Given the description of an element on the screen output the (x, y) to click on. 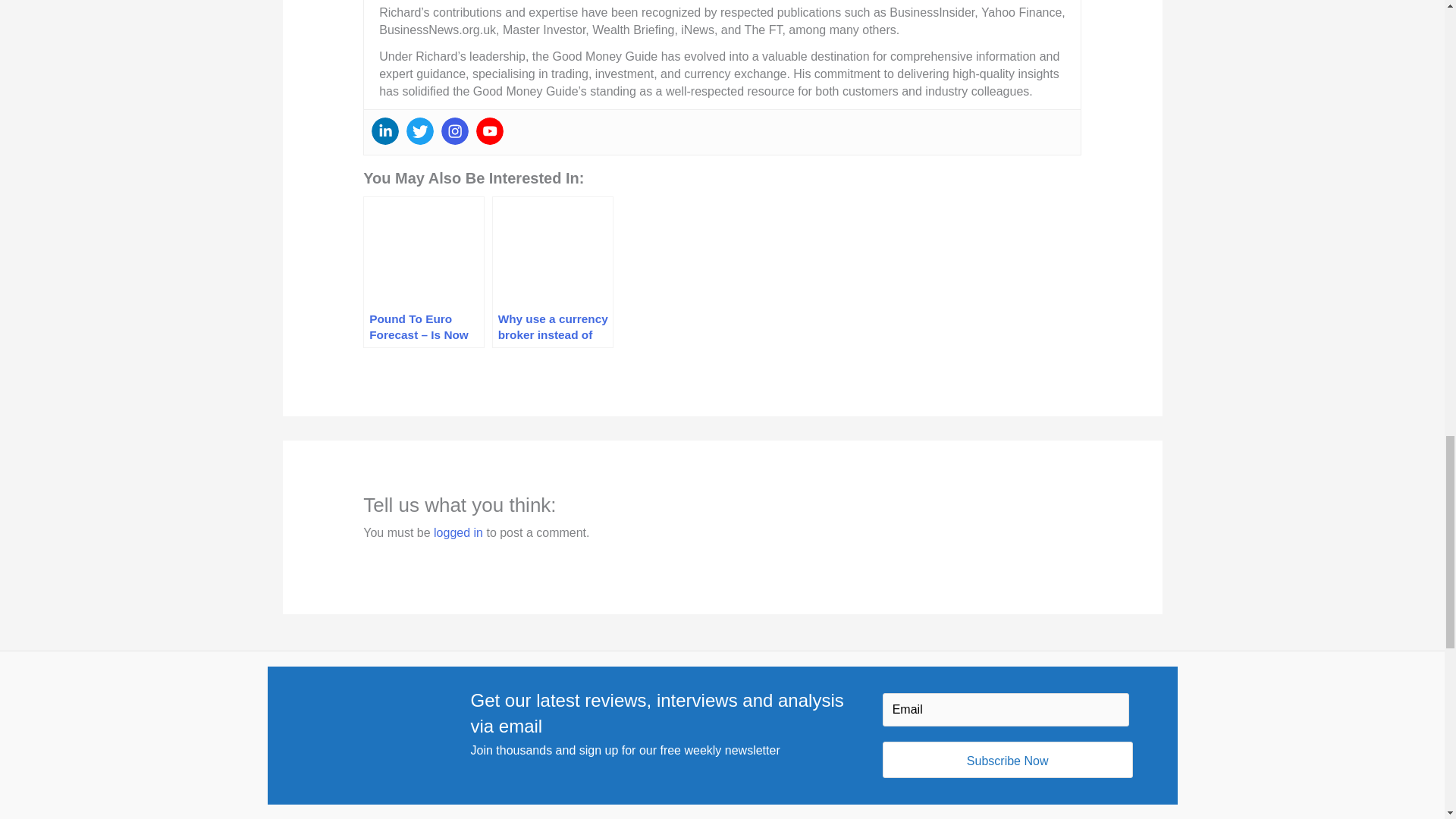
Linkedin (384, 130)
Youtube (489, 130)
Twitter (419, 130)
Instagram (454, 130)
